Given the description of an element on the screen output the (x, y) to click on. 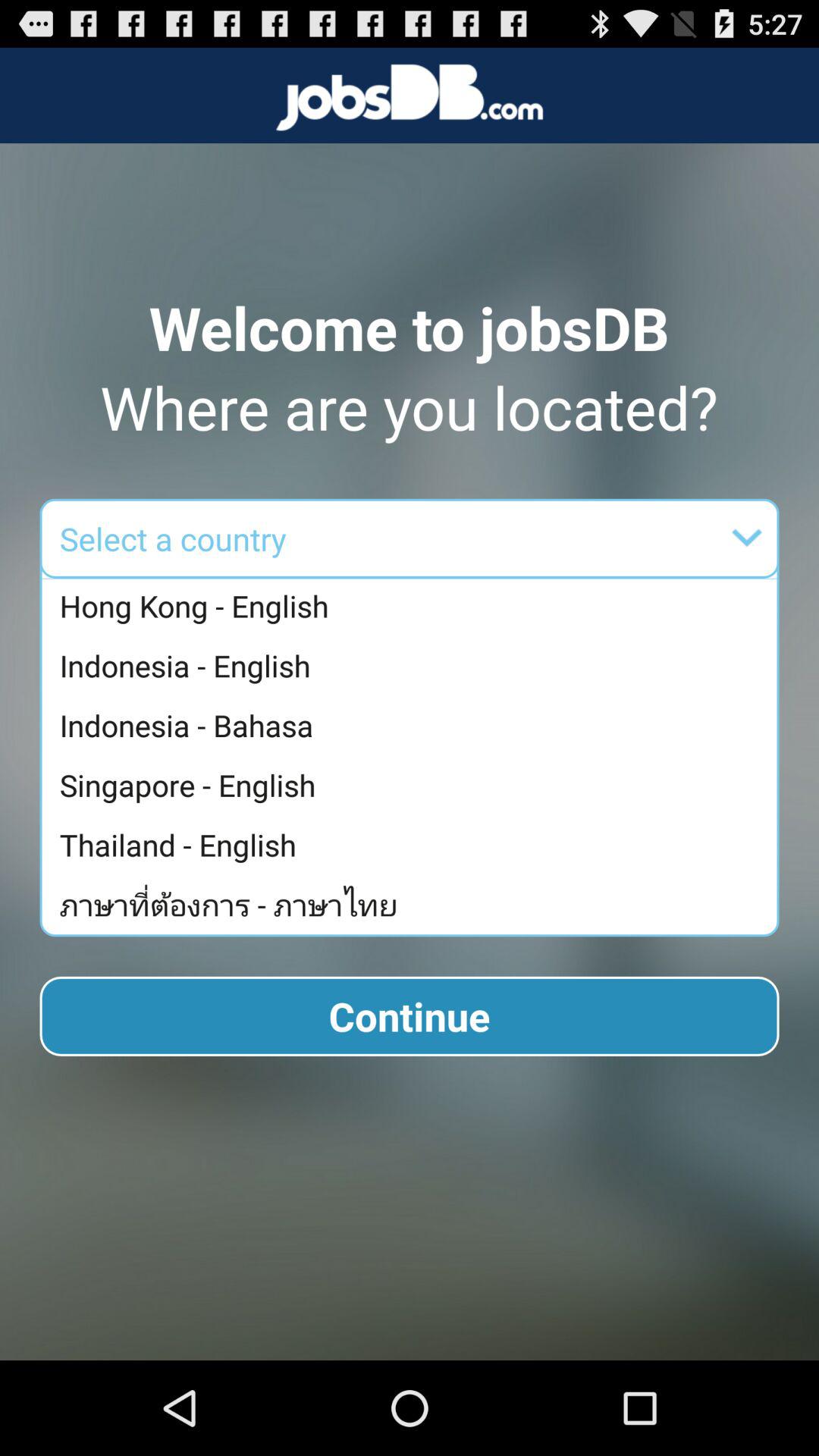
search input (506, 538)
